Given the description of an element on the screen output the (x, y) to click on. 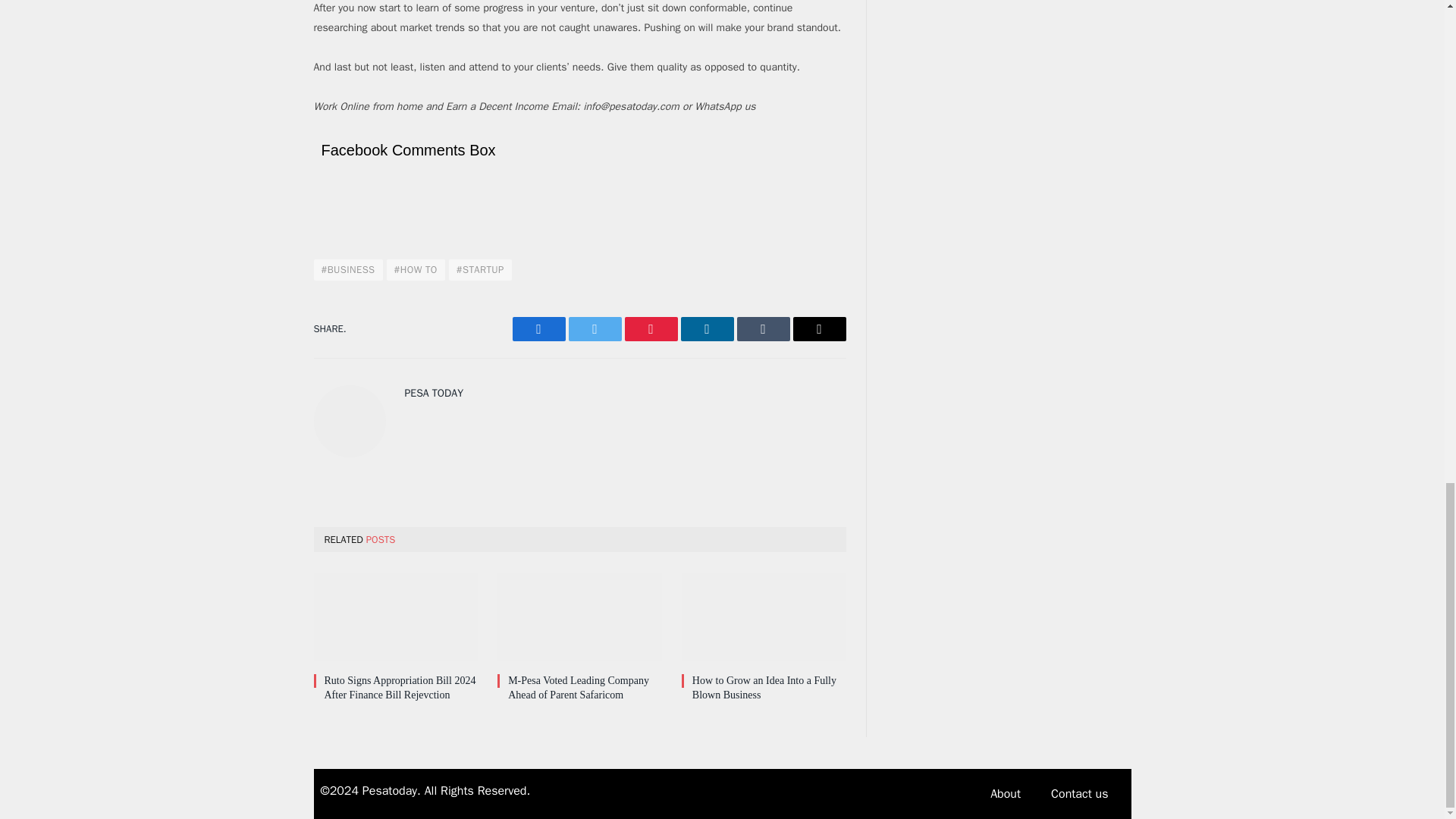
Share on Pinterest (651, 328)
Posts by Pesa Today (434, 392)
How to Grow an Idea Into a Fully Blown Business (763, 616)
Share via Email (819, 328)
Share on Tumblr (763, 328)
M-Pesa Voted Leading Company Ahead of Parent Safaricom (579, 616)
Share on Facebook (539, 328)
Share on LinkedIn (707, 328)
